Given the description of an element on the screen output the (x, y) to click on. 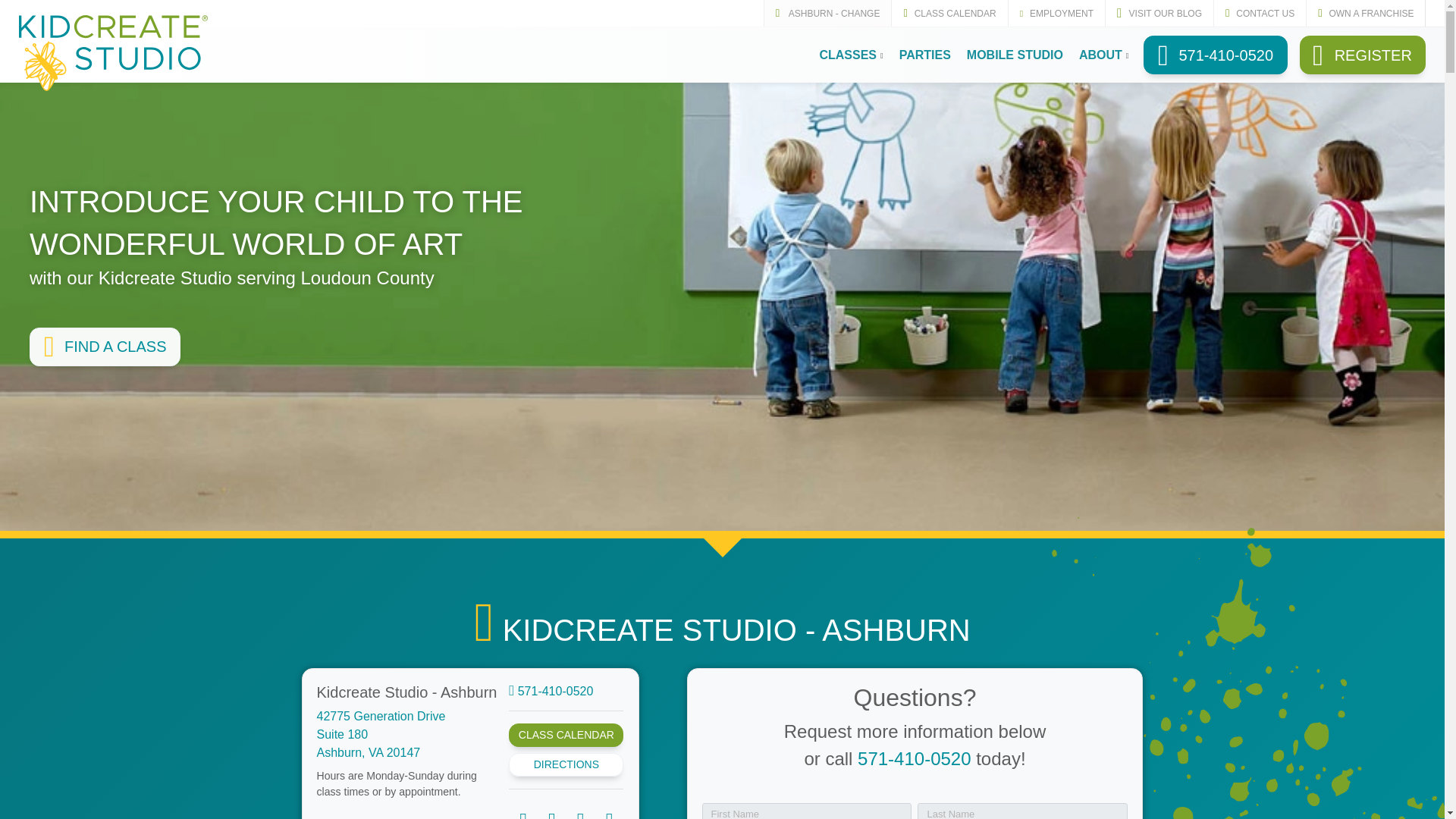
OWN A FRANCHISE (1365, 13)
Directions to Ashburn Kids Art (565, 764)
Last Name (1021, 811)
PARTIES (924, 54)
CONTACT US (1259, 13)
Directions to Ashburn Kids Art (381, 734)
ABOUT (1103, 54)
REGISTER (1363, 55)
VISIT OUR BLOG (1158, 13)
ASHBURN - CHANGE (826, 13)
Loudoun County Kids Art Studio Class Schedule (104, 346)
MOBILE STUDIO (1014, 54)
CLASSES (849, 54)
571-410-0520 (1214, 55)
CLASS CALENDAR (949, 13)
